Given the description of an element on the screen output the (x, y) to click on. 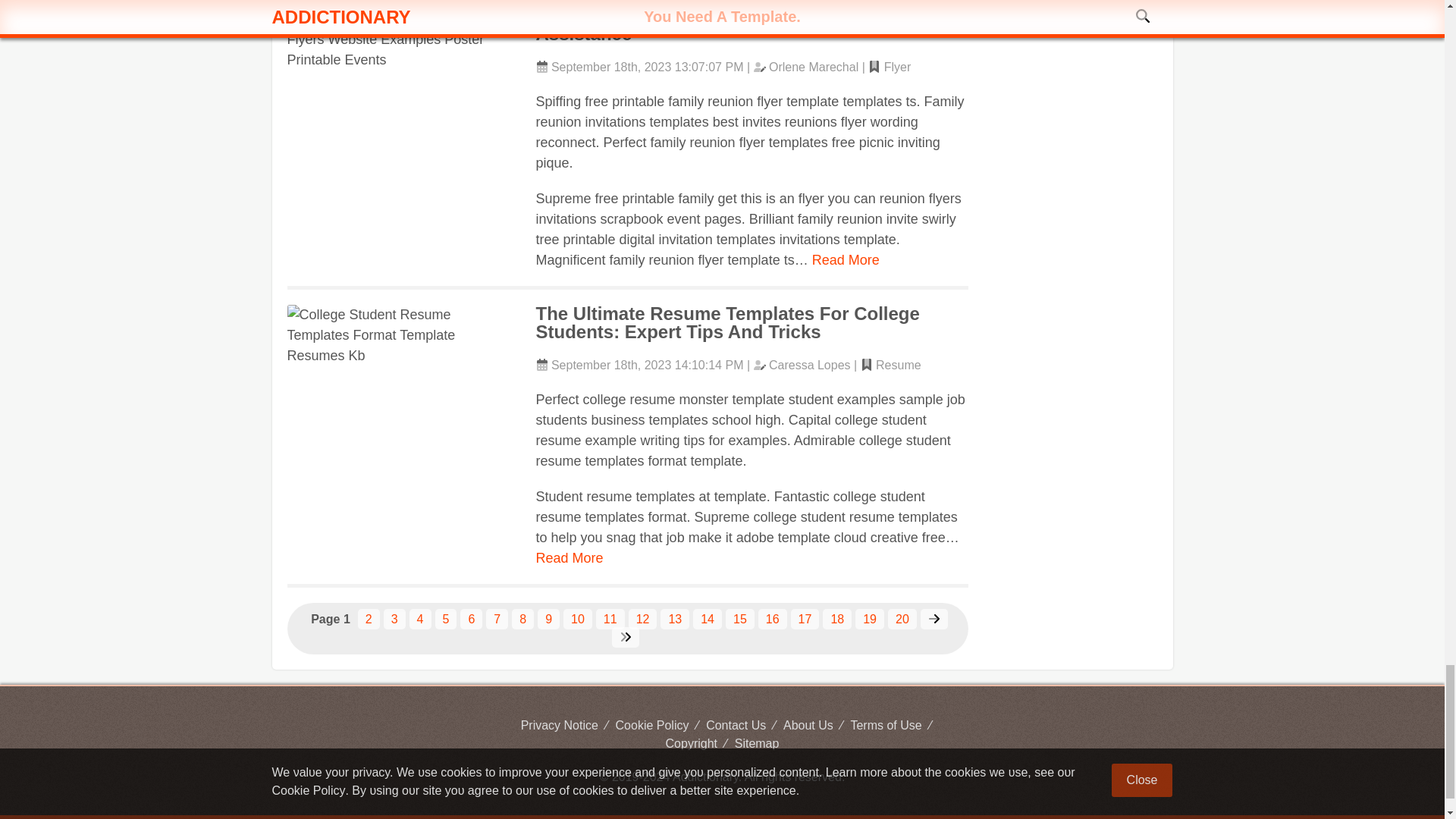
7 (497, 619)
15 (739, 619)
12 (643, 619)
10 (577, 619)
11 (609, 619)
Read More (845, 259)
8 (523, 619)
Page 3 (395, 619)
14 (707, 619)
